Given the description of an element on the screen output the (x, y) to click on. 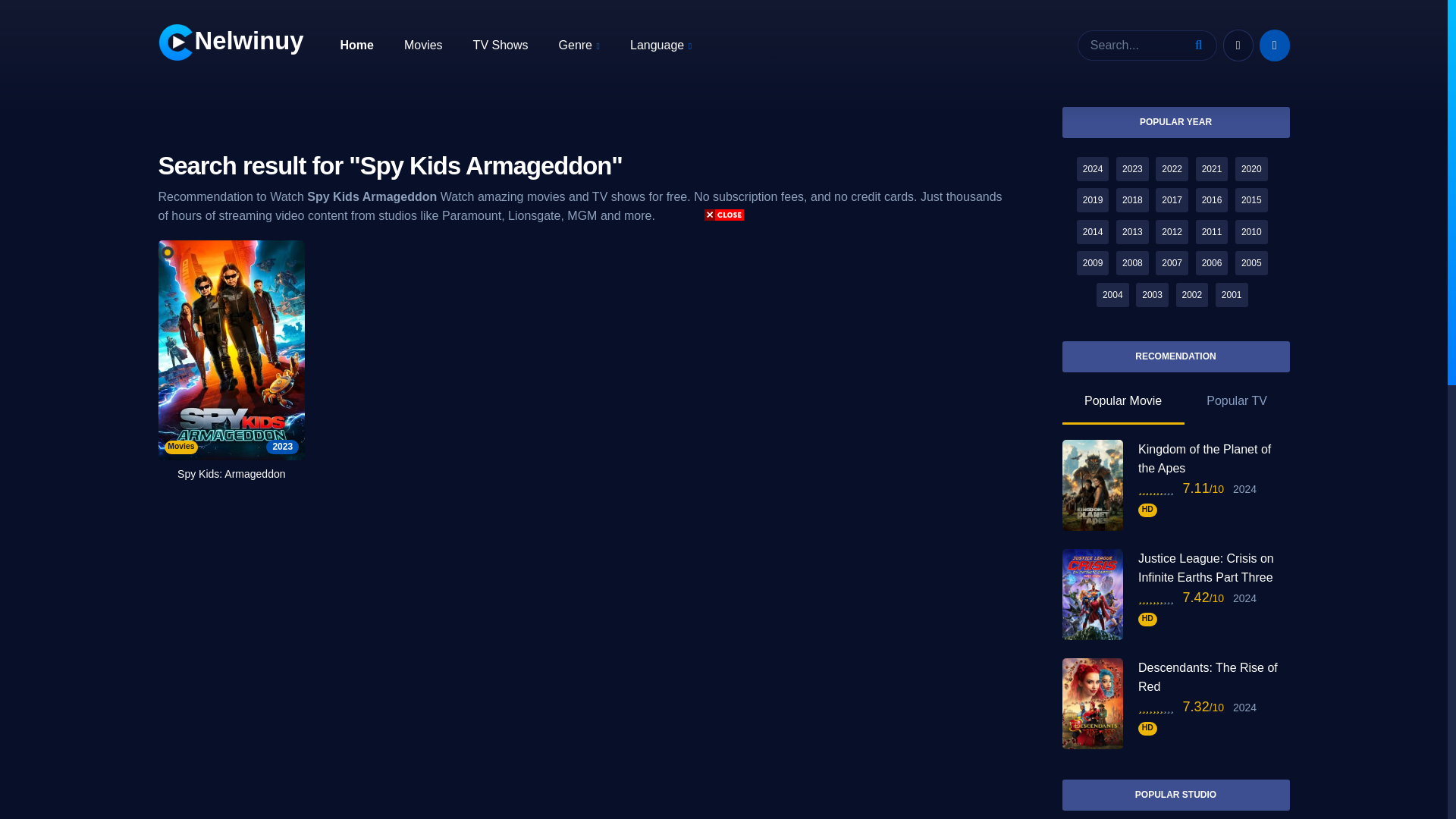
Series (500, 44)
Home (355, 44)
Genre (579, 45)
Movies (423, 44)
Movies (423, 44)
Login (1238, 45)
Home (355, 44)
TV Shows (500, 44)
Language (660, 45)
Register (1274, 45)
search (1201, 45)
